Given the description of an element on the screen output the (x, y) to click on. 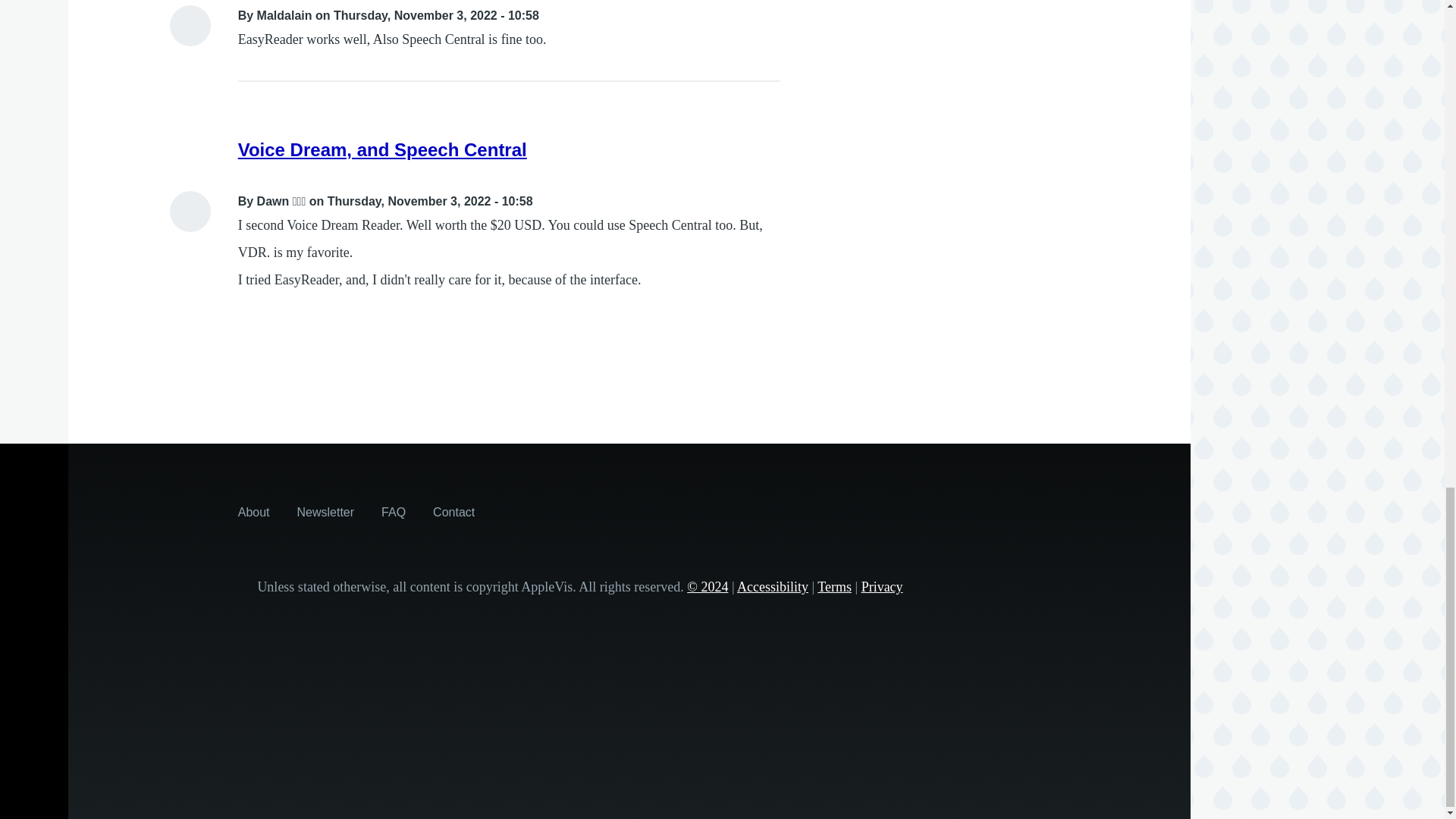
Newsletters (326, 511)
Terms (833, 586)
Privacy (881, 586)
Answers to some frequently asked questions about AppleVis (393, 511)
FAQ (393, 511)
Contact (453, 511)
About (253, 511)
Newsletter (326, 511)
About (253, 511)
Accessibility (772, 586)
